Given the description of an element on the screen output the (x, y) to click on. 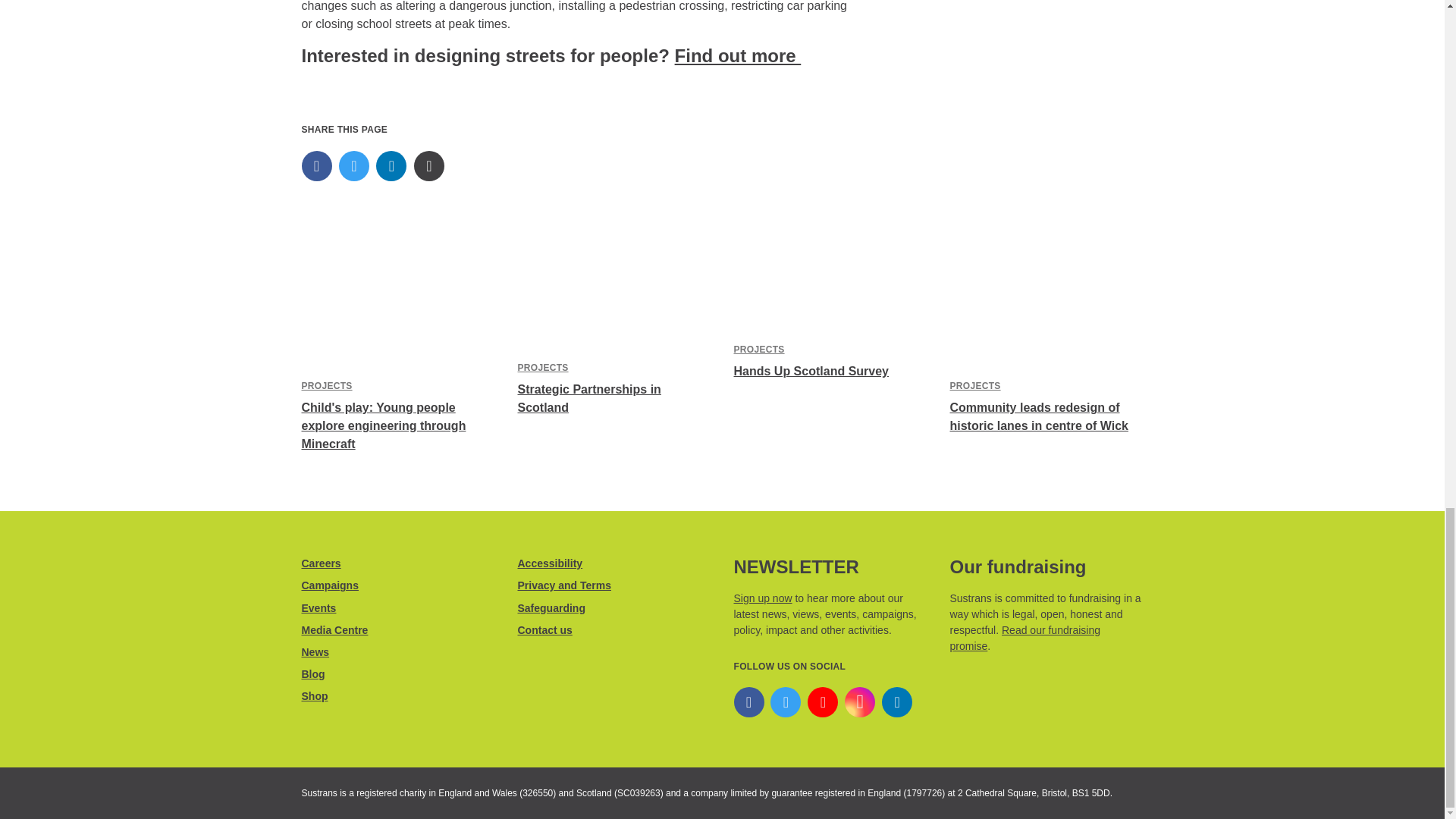
Fundraising (1024, 637)
Sign up to our newsletter (762, 598)
